Given the description of an element on the screen output the (x, y) to click on. 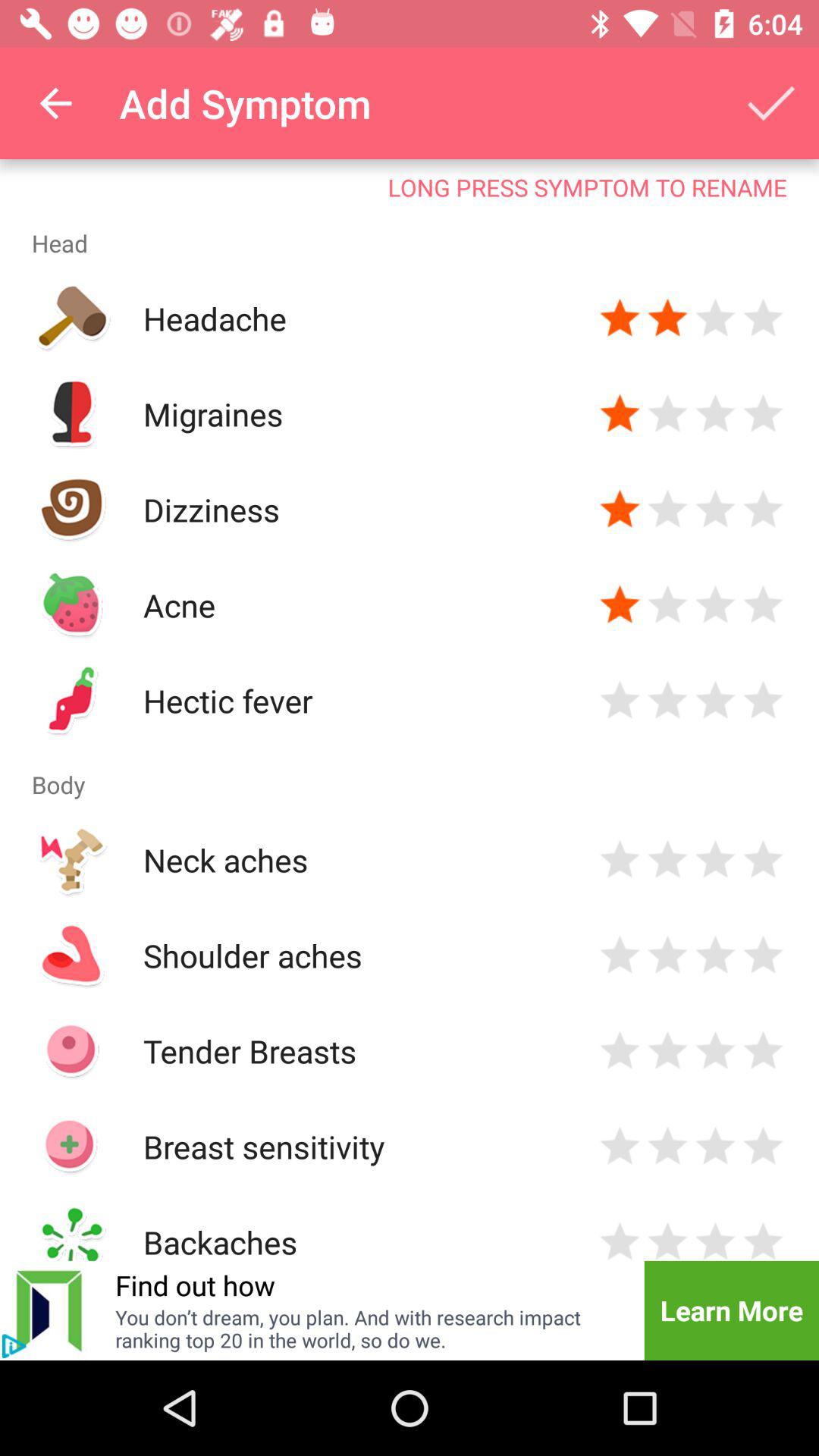
give a star rating (619, 859)
